Given the description of an element on the screen output the (x, y) to click on. 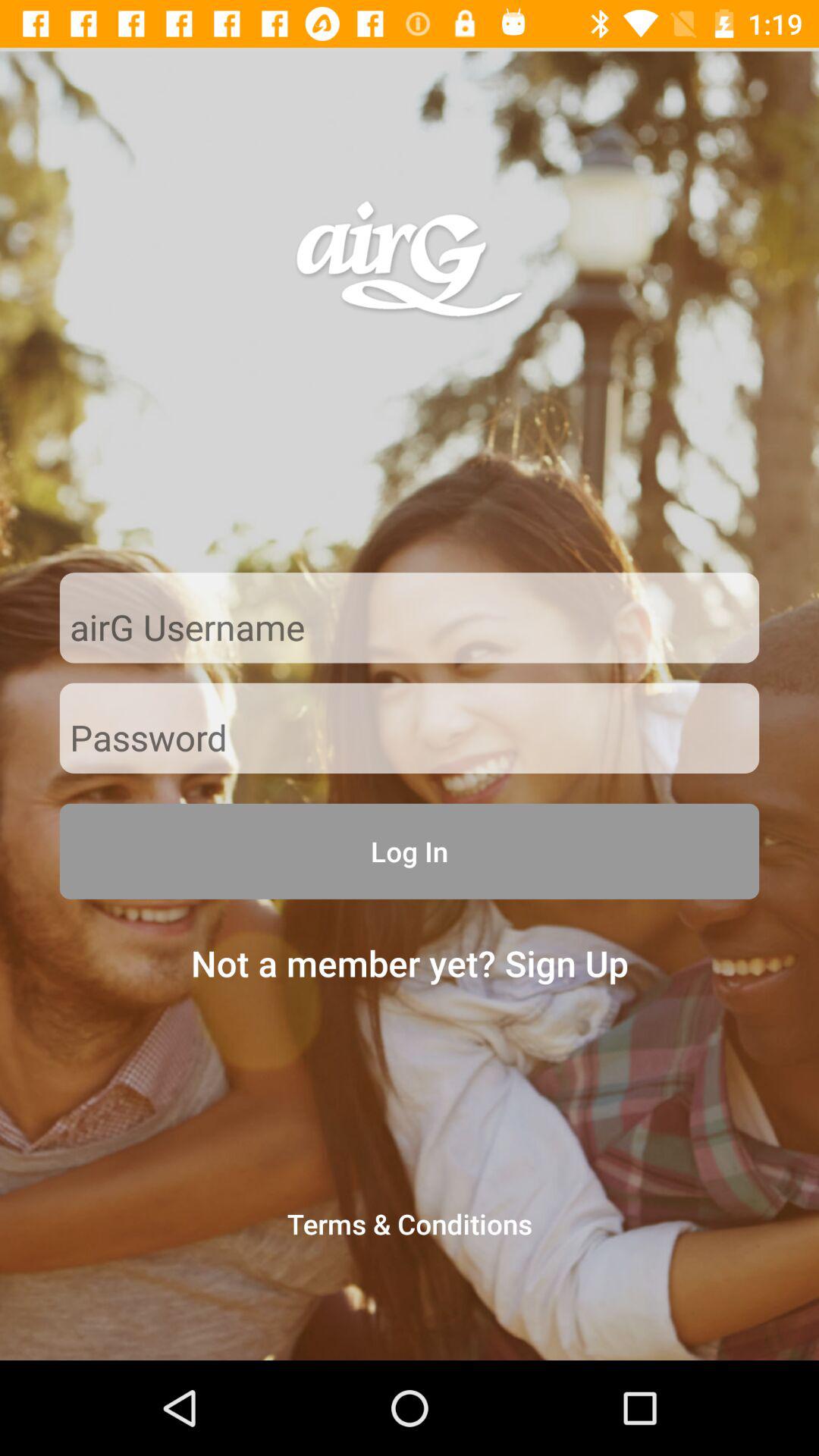
enter the password (409, 738)
